Given the description of an element on the screen output the (x, y) to click on. 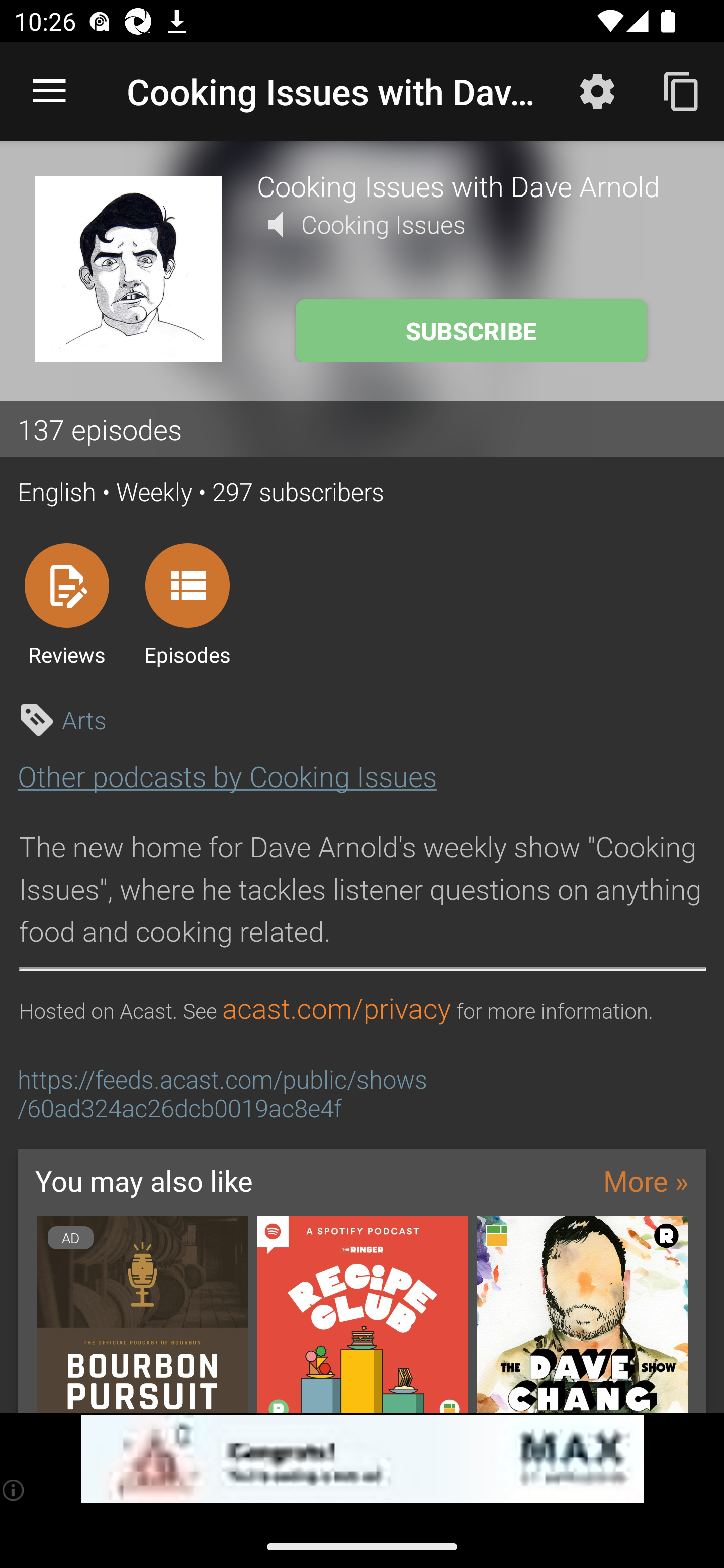
Open navigation sidebar (49, 91)
Settings (597, 90)
Copy feed url to clipboard (681, 90)
Cooking Issues with Dave Arnold (472, 185)
SUBSCRIBE (470, 330)
Reviews (66, 604)
Episodes (187, 604)
Other podcasts by Cooking Issues (226, 775)
acast.com/privacy (336, 1009)
More » (645, 1180)
AD (142, 1313)
app-monetization (362, 1459)
(i) (14, 1489)
